Given the description of an element on the screen output the (x, y) to click on. 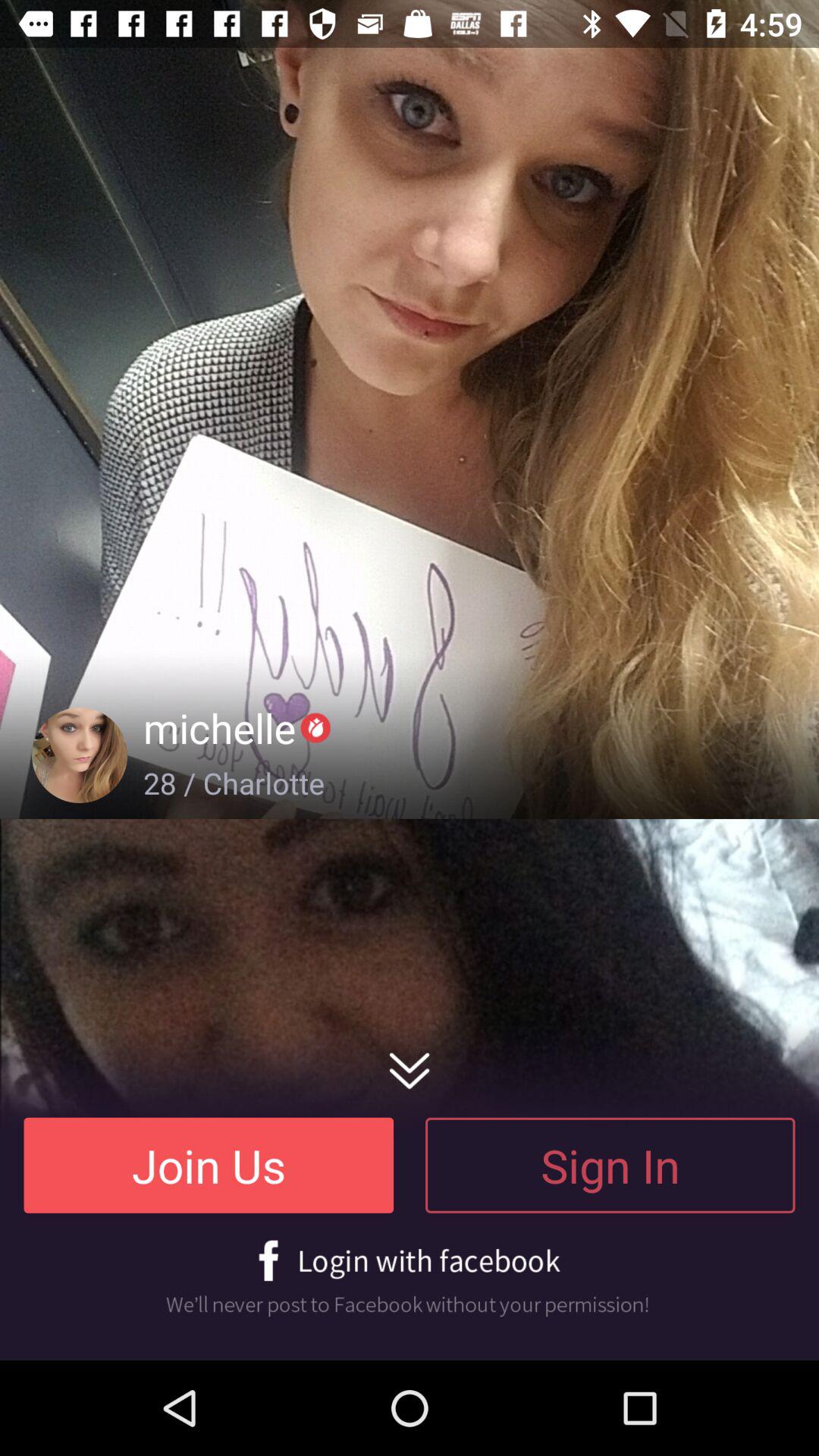
choose icon next to the join us icon (610, 1165)
